Given the description of an element on the screen output the (x, y) to click on. 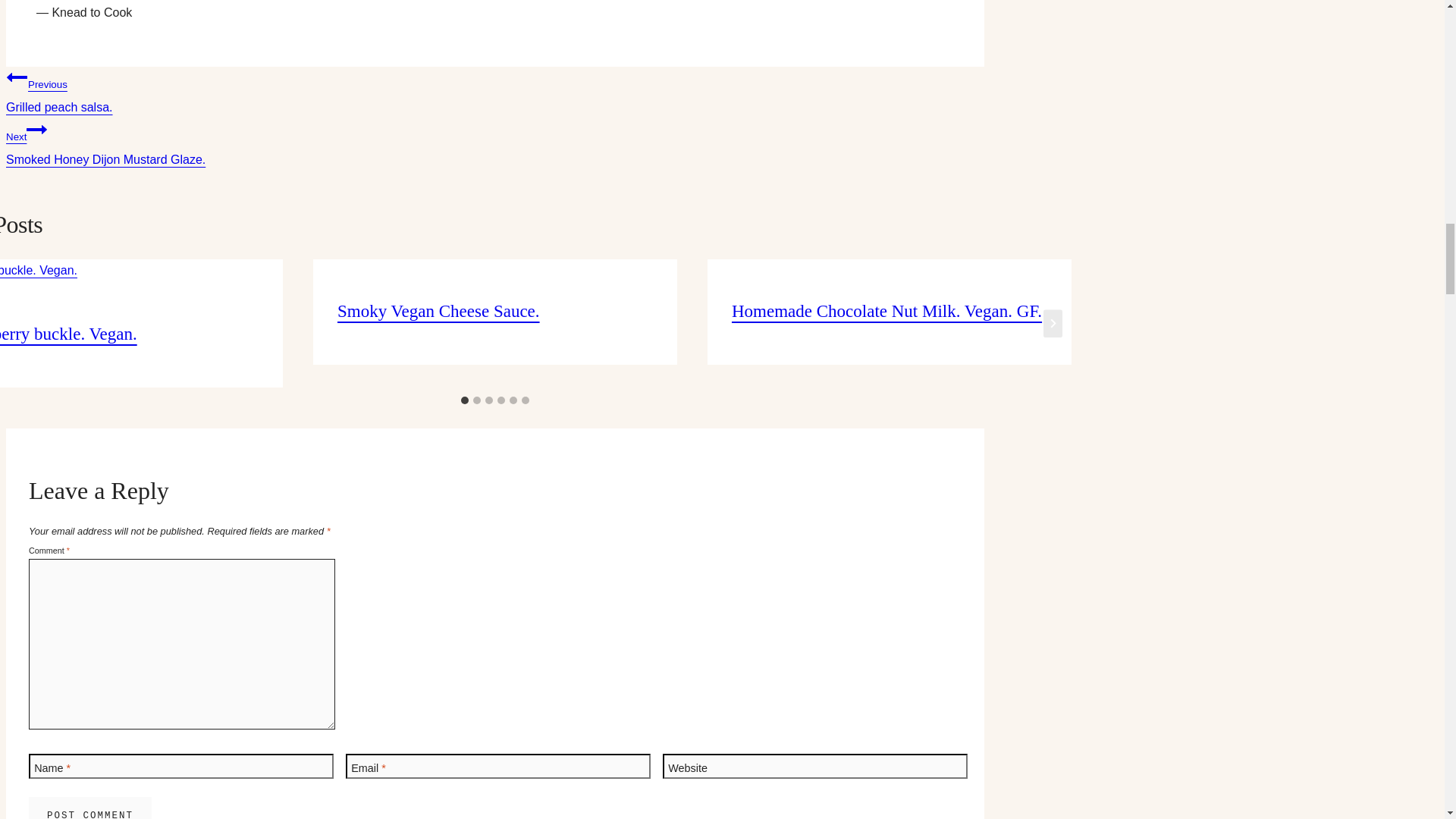
Previous (16, 76)
Continue (494, 141)
Post Comment (494, 89)
